Given the description of an element on the screen output the (x, y) to click on. 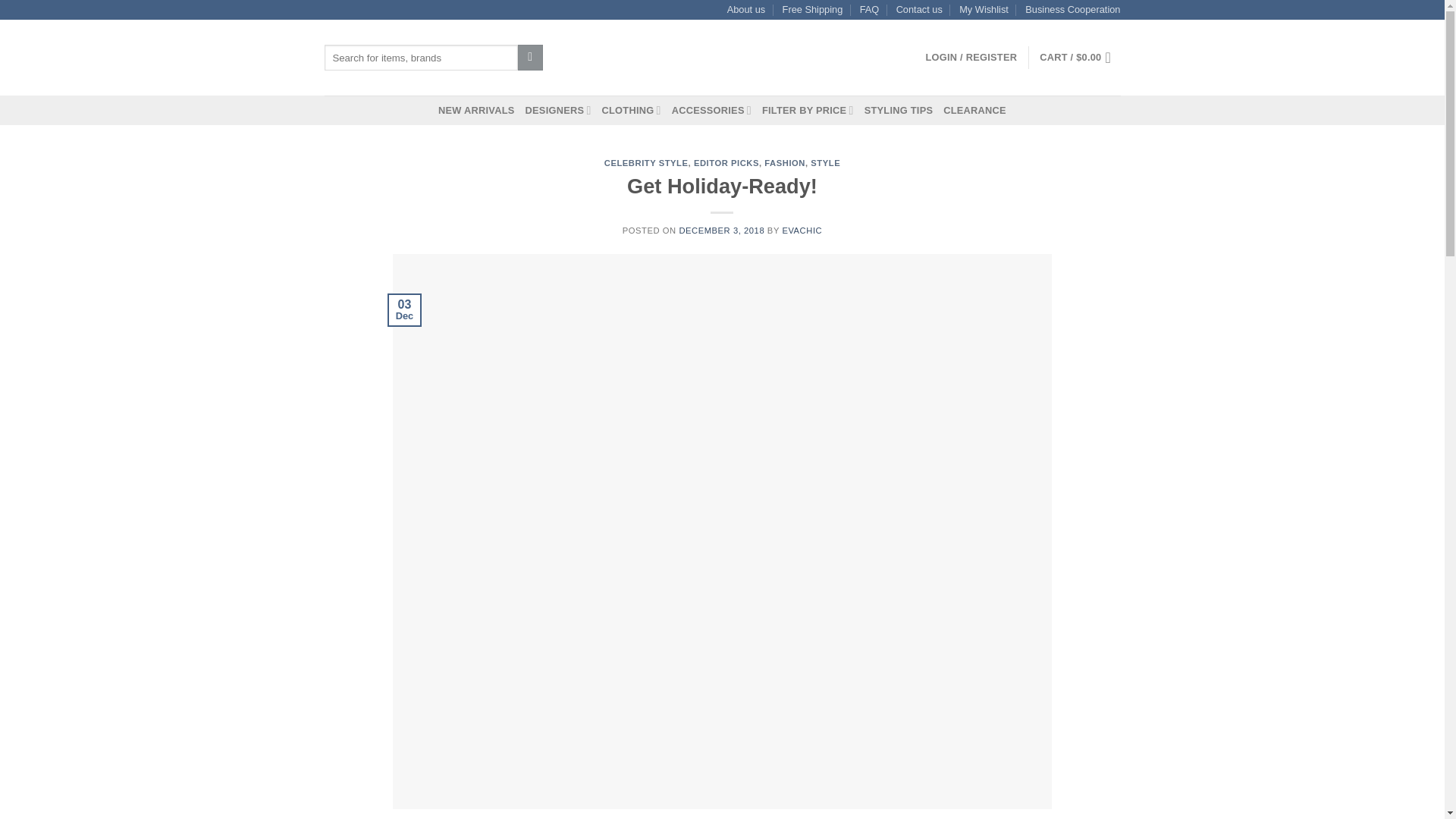
FAQ (869, 9)
DESIGNERS (558, 110)
Free Shipping (813, 9)
Business Cooperation (1072, 9)
CLOTHING (631, 110)
NEW ARRIVALS (475, 110)
evaChic (721, 57)
About us (745, 9)
Contact us (919, 9)
Cart (1079, 57)
Search (530, 57)
My Wishlist (984, 9)
